Given the description of an element on the screen output the (x, y) to click on. 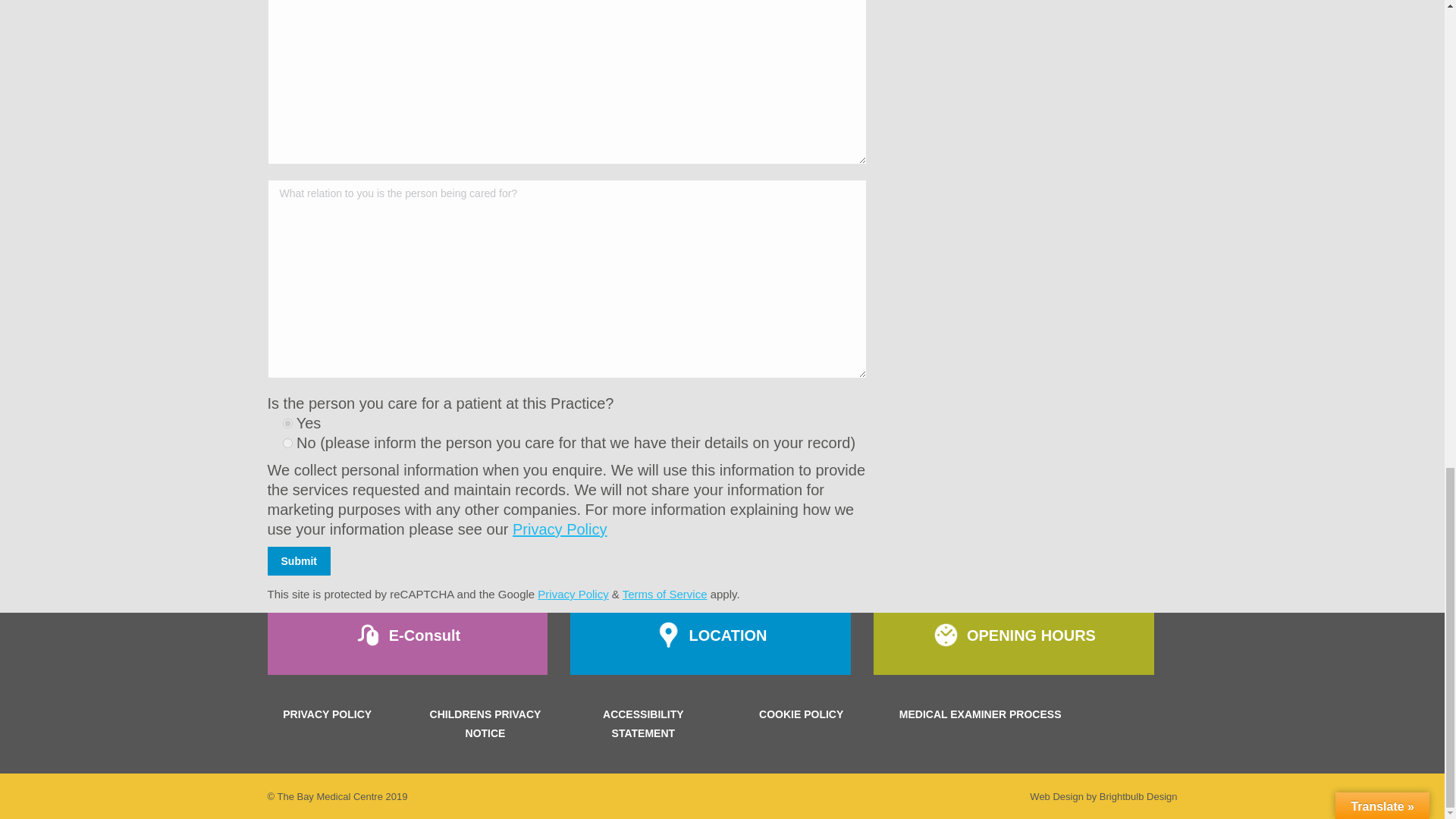
Location (710, 643)
Yes (287, 423)
Submit (298, 561)
